Given the description of an element on the screen output the (x, y) to click on. 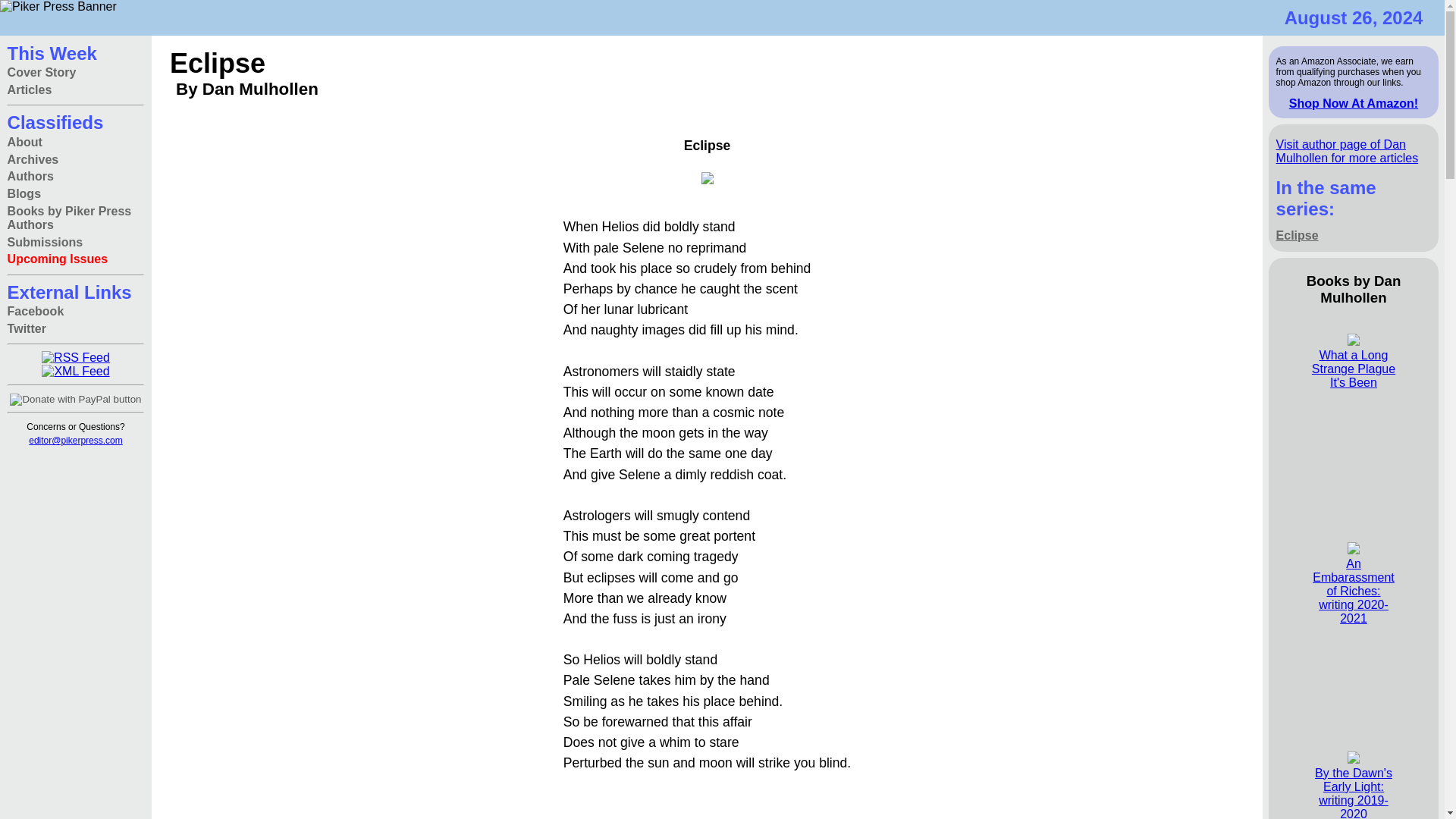
Archives (33, 159)
Blogs (23, 194)
About (24, 141)
PayPal - The safer, easier way to pay online! (75, 399)
Upcoming Issues (57, 259)
Submissions (44, 241)
Facebook (35, 312)
Cover Story (42, 72)
Eclipse (1297, 235)
Books by Piker Press Authors (75, 217)
